Given the description of an element on the screen output the (x, y) to click on. 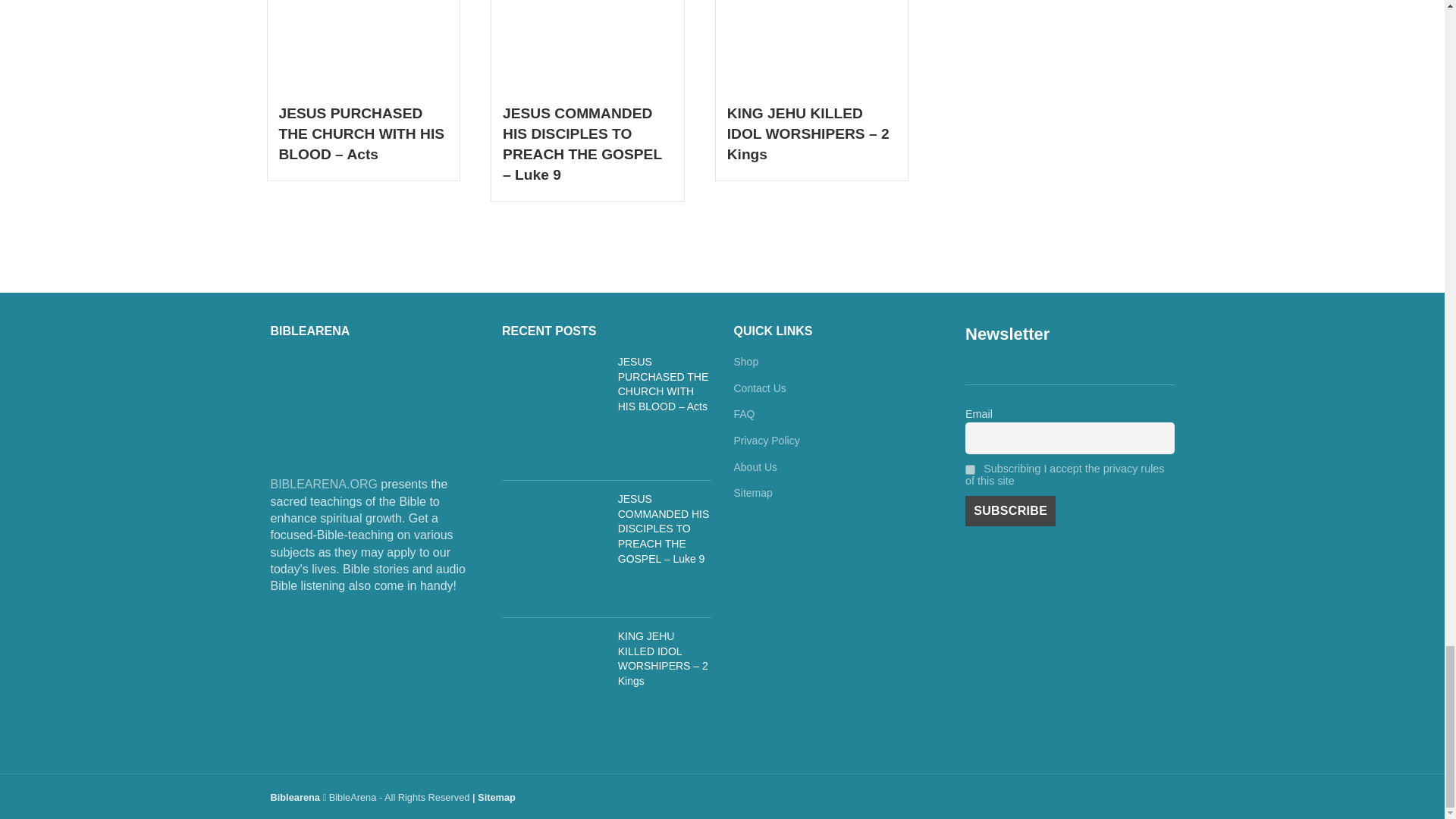
Subscribe (1010, 511)
on (970, 470)
